Given the description of an element on the screen output the (x, y) to click on. 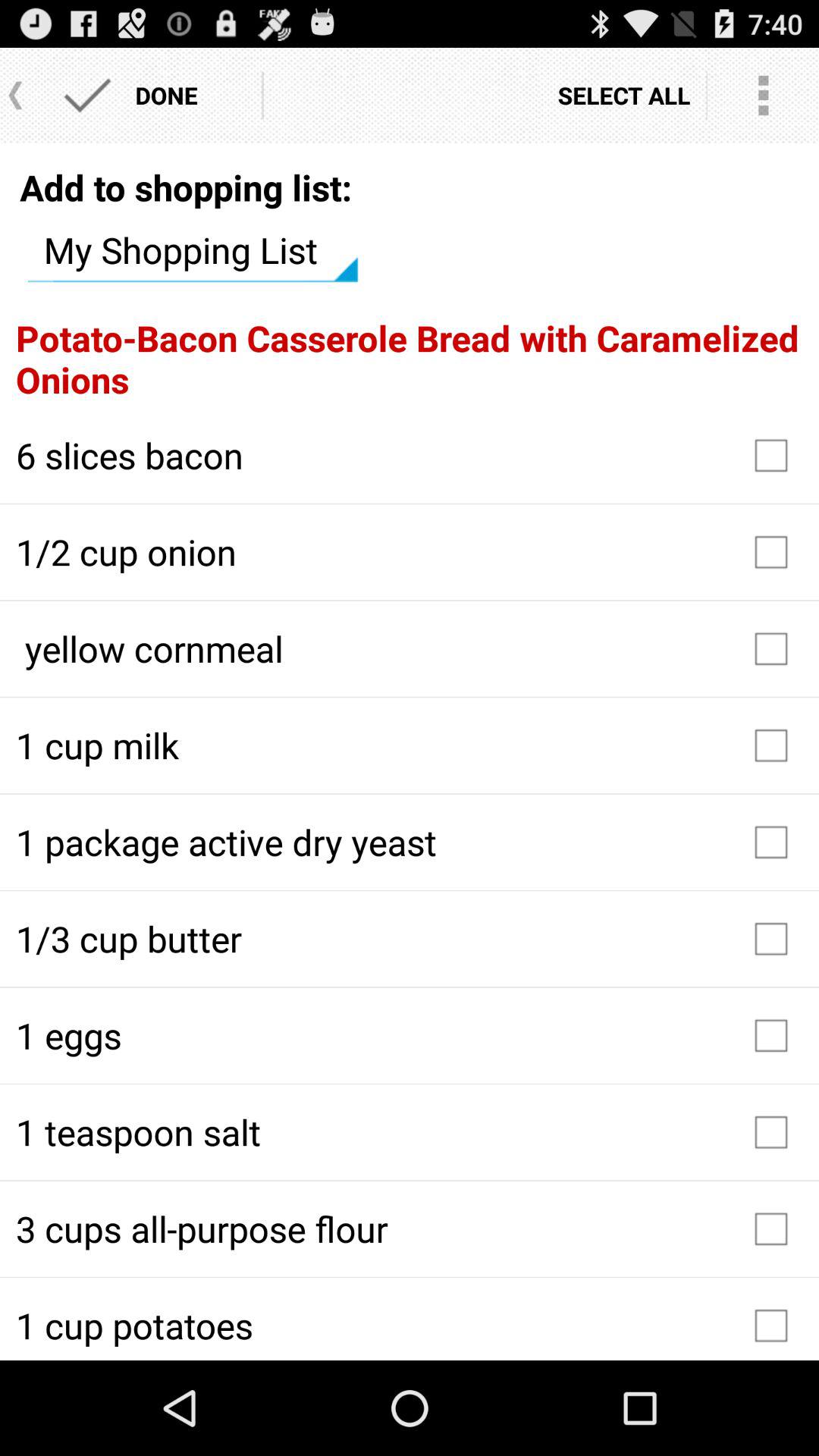
turn off 1 package active (409, 842)
